Given the description of an element on the screen output the (x, y) to click on. 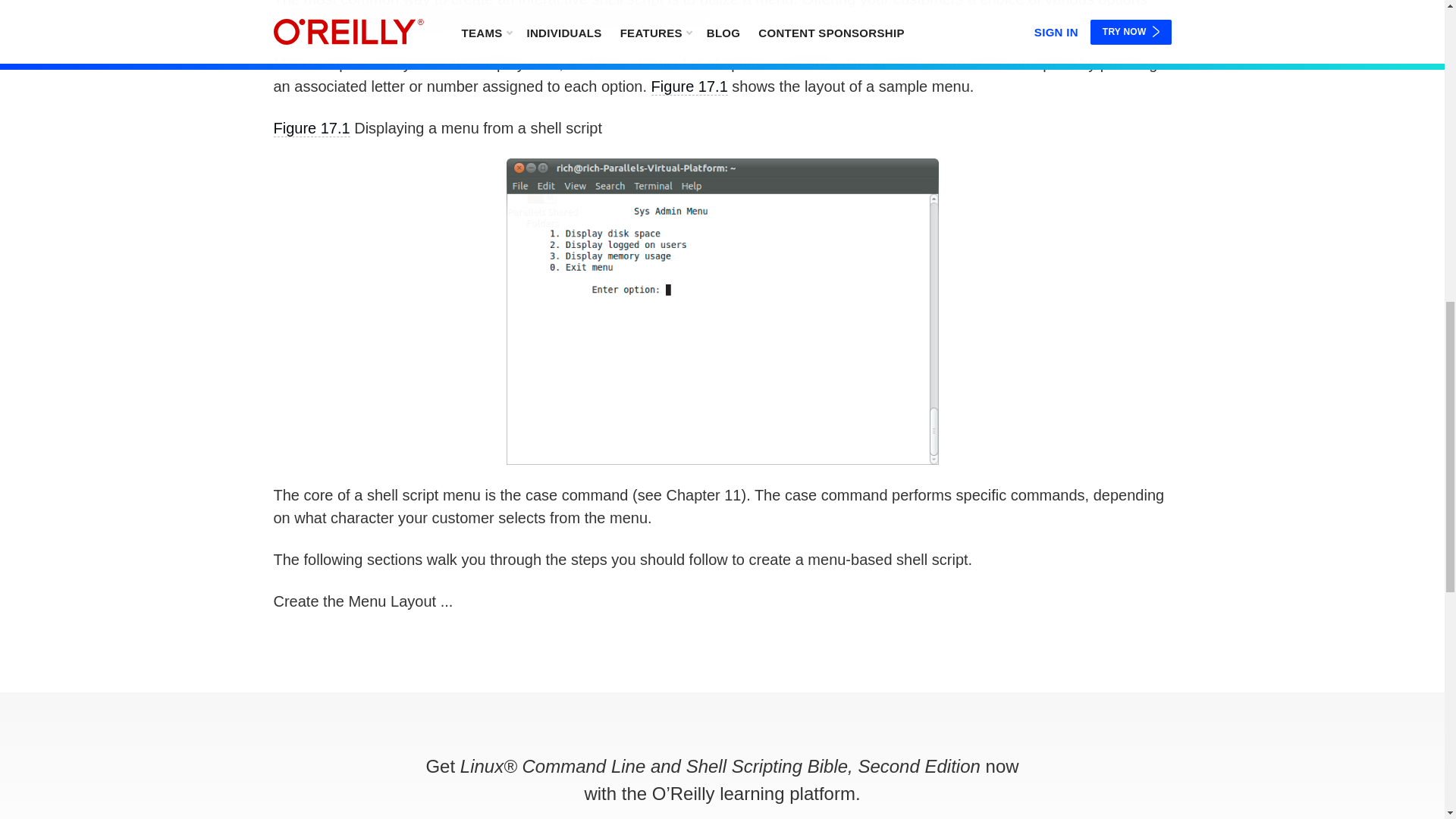
Figure 17.1 (311, 128)
Figure 17.1 (689, 85)
